Given the description of an element on the screen output the (x, y) to click on. 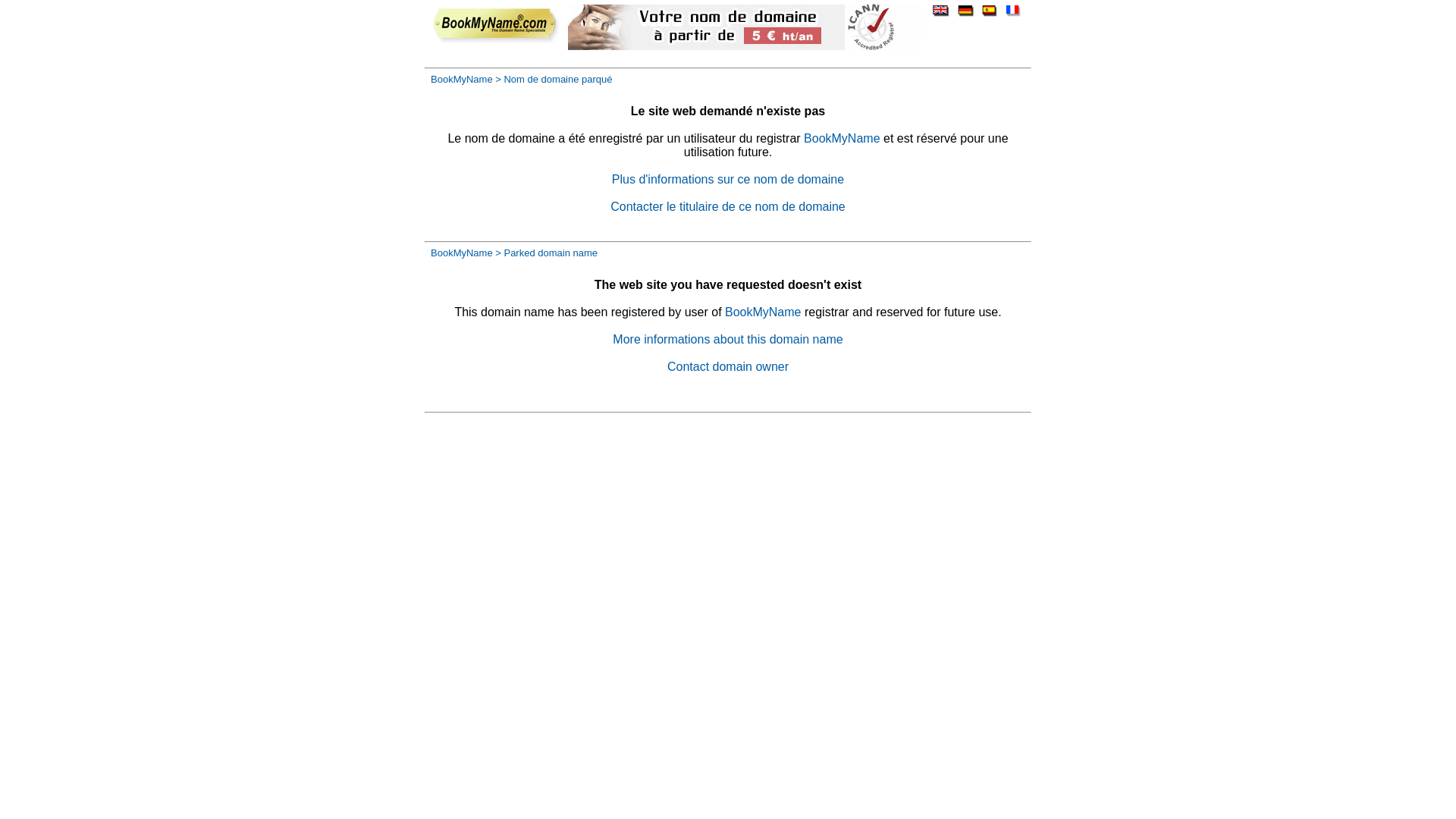
BookMyName Element type: text (461, 252)
BookMyName Element type: text (461, 78)
Contact domain owner Element type: text (727, 366)
BookMyName Element type: text (762, 311)
BookMyName Element type: text (841, 137)
Contacter le titulaire de ce nom de domaine Element type: text (727, 206)
Plus d'informations sur ce nom de domaine Element type: text (727, 178)
More informations about this domain name Element type: text (727, 338)
